Given the description of an element on the screen output the (x, y) to click on. 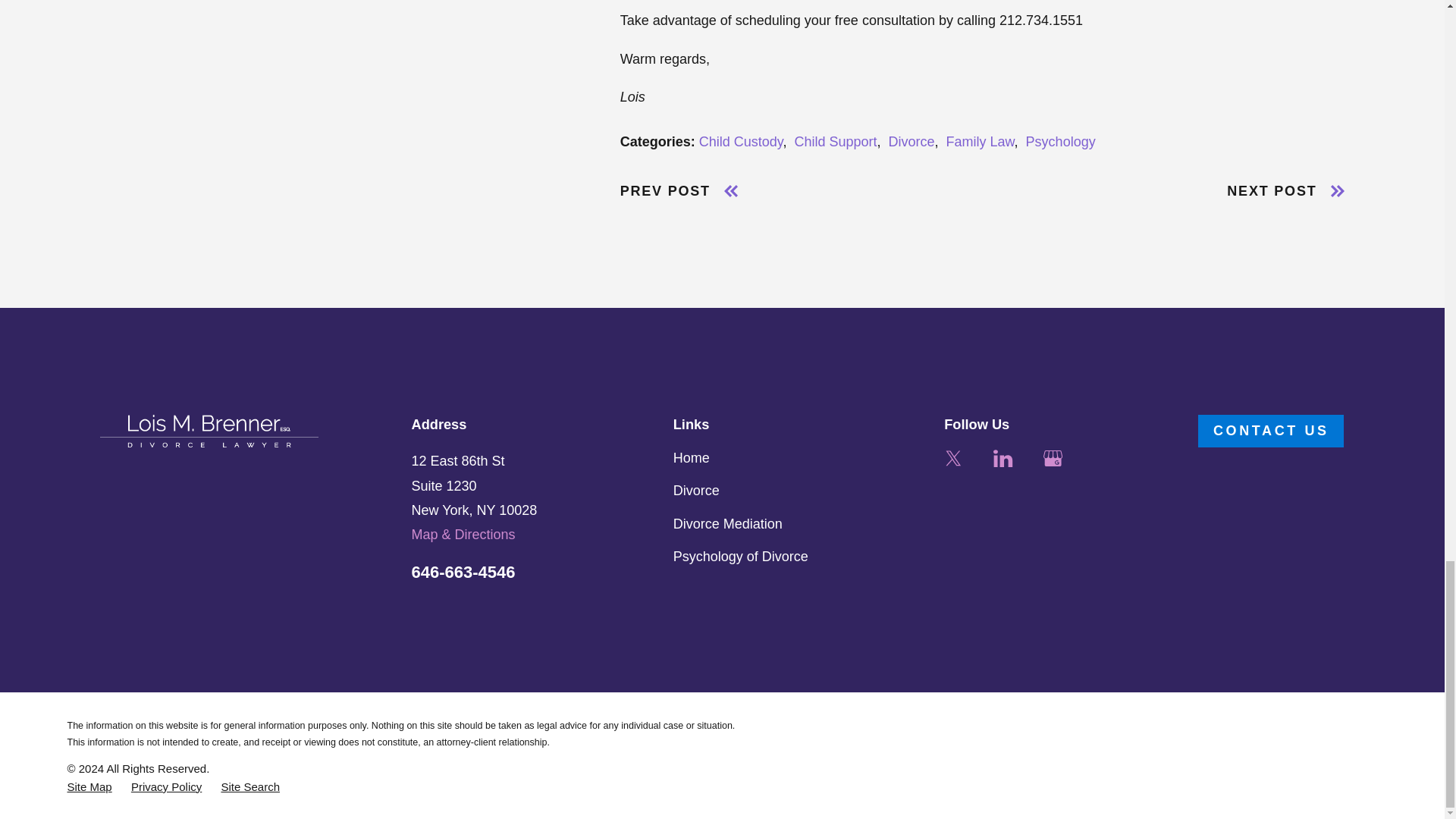
LinkedIn (1001, 457)
Twitter (952, 457)
Google Business Profile (1052, 457)
Home (209, 430)
